Given the description of an element on the screen output the (x, y) to click on. 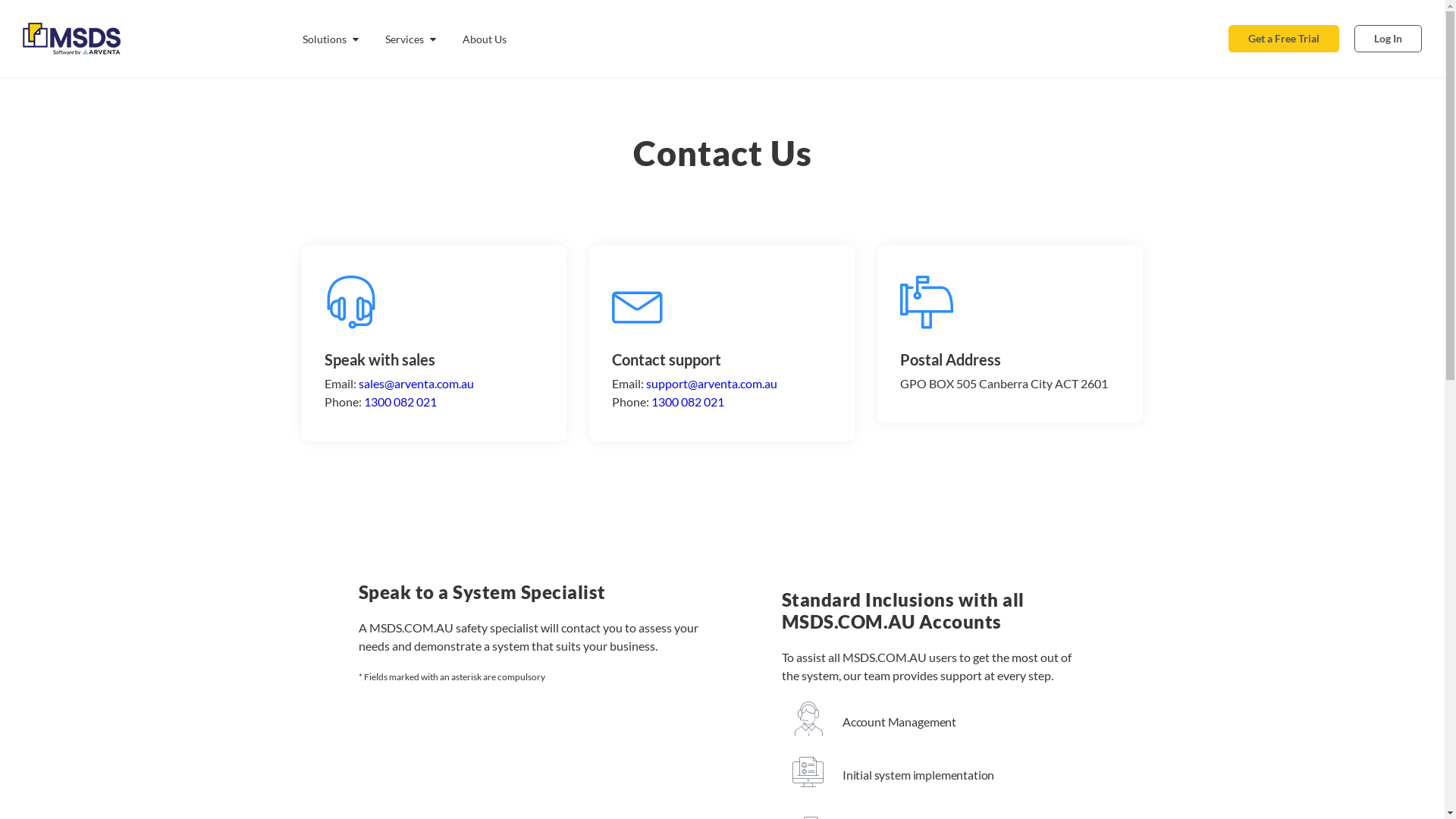
Log In Element type: text (1387, 38)
support@arventa.com.au Element type: text (711, 383)
Solutions Element type: text (330, 38)
sales@arventa.com.au Element type: text (415, 383)
Get a Free Trial Element type: text (1283, 38)
Services Element type: text (410, 38)
1300 082 021 Element type: text (400, 401)
1300 082 021 Element type: text (687, 401)
About Us Element type: text (484, 38)
